Given the description of an element on the screen output the (x, y) to click on. 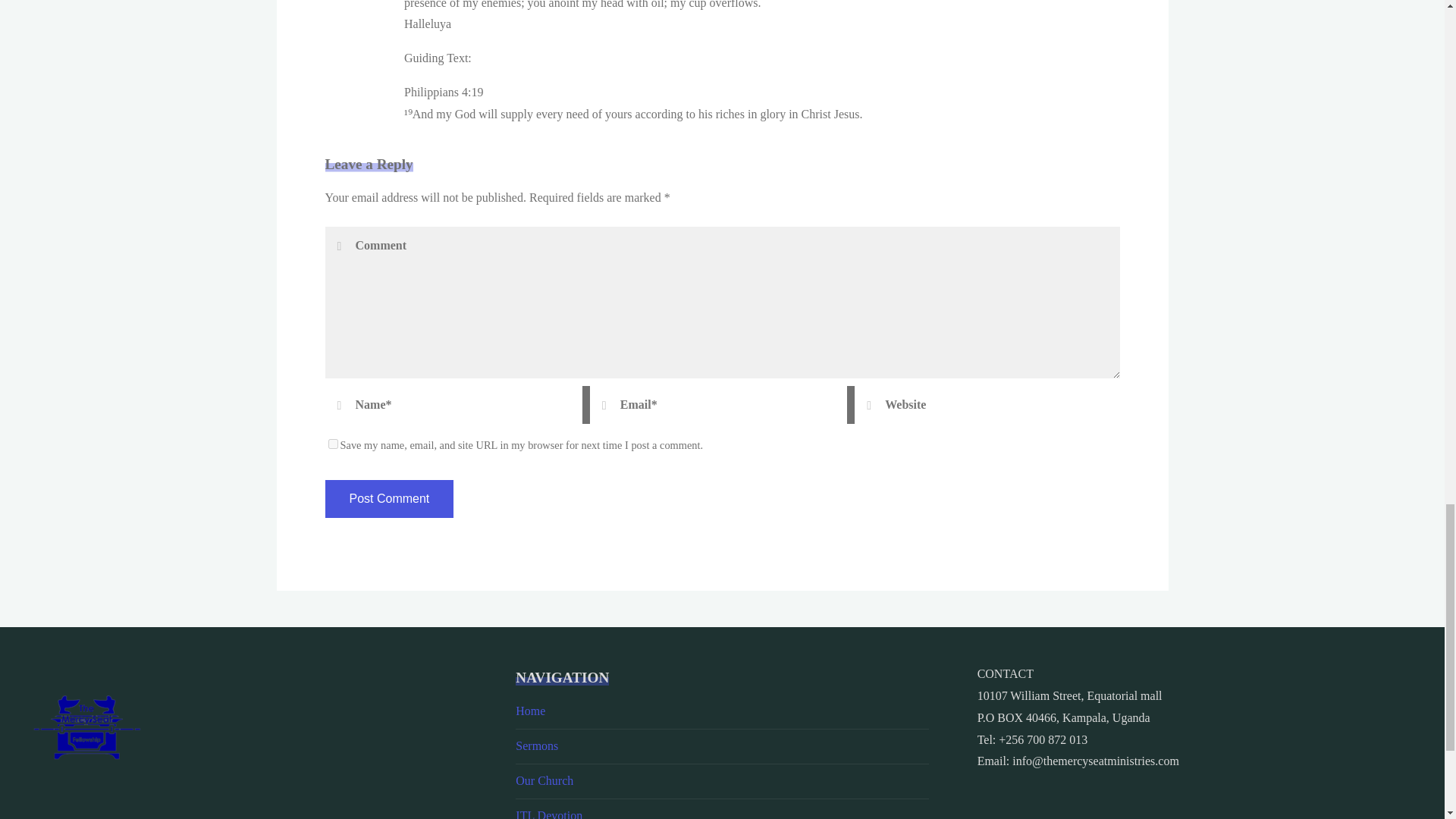
Our Church (544, 780)
Post Comment (388, 498)
yes (332, 443)
Post Comment (388, 498)
Sermons (536, 745)
Home (529, 710)
ITL Devotion (548, 814)
